Given the description of an element on the screen output the (x, y) to click on. 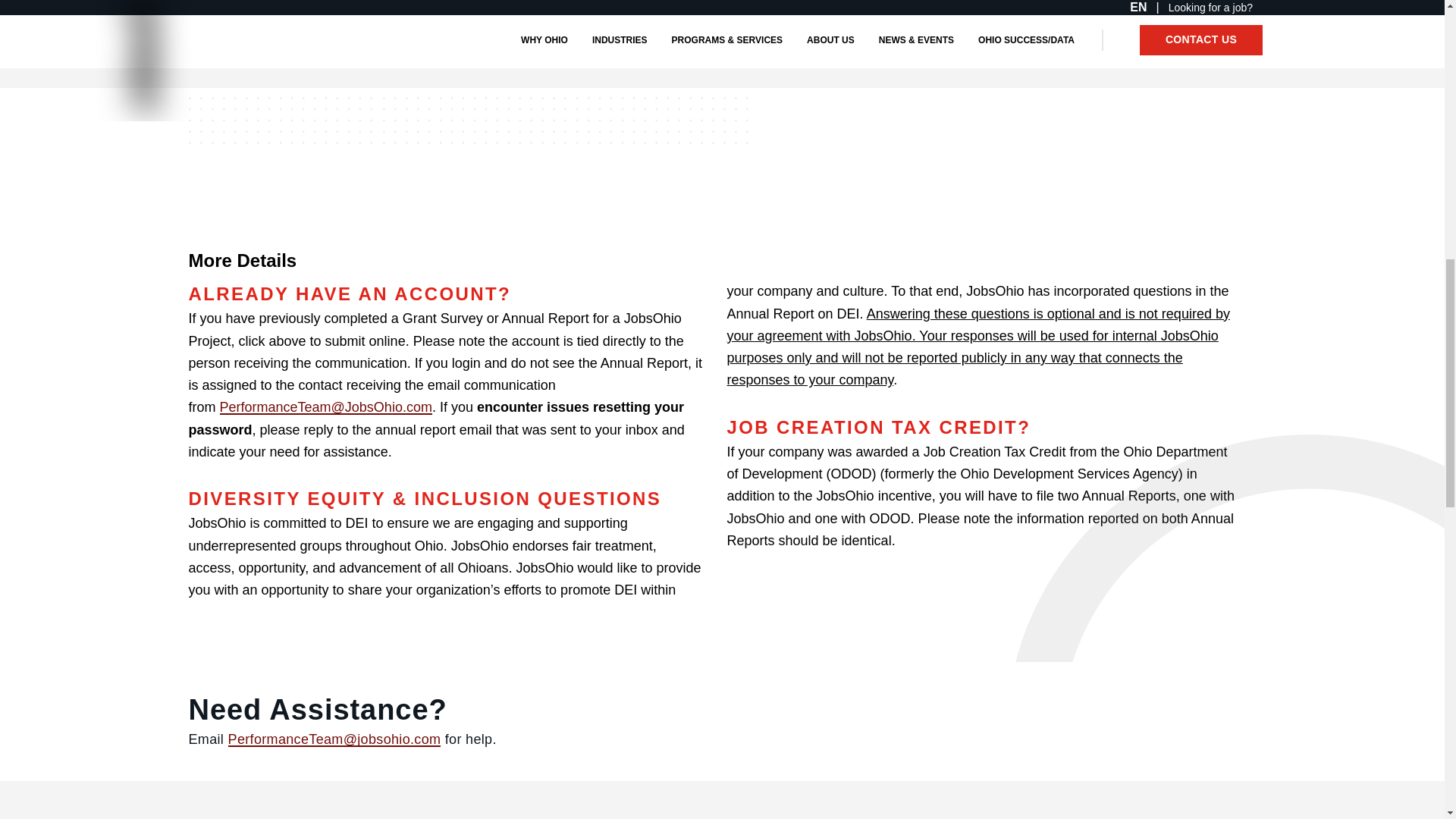
SITE DEVELOPMENT ANNUAL REPORT RESOURCES (547, 48)
ANNUAL REPORT WORKSHEET (279, 48)
Need Assistance? (527, 710)
REIMBURSEMENT REQUIREMENTS (824, 48)
